Given the description of an element on the screen output the (x, y) to click on. 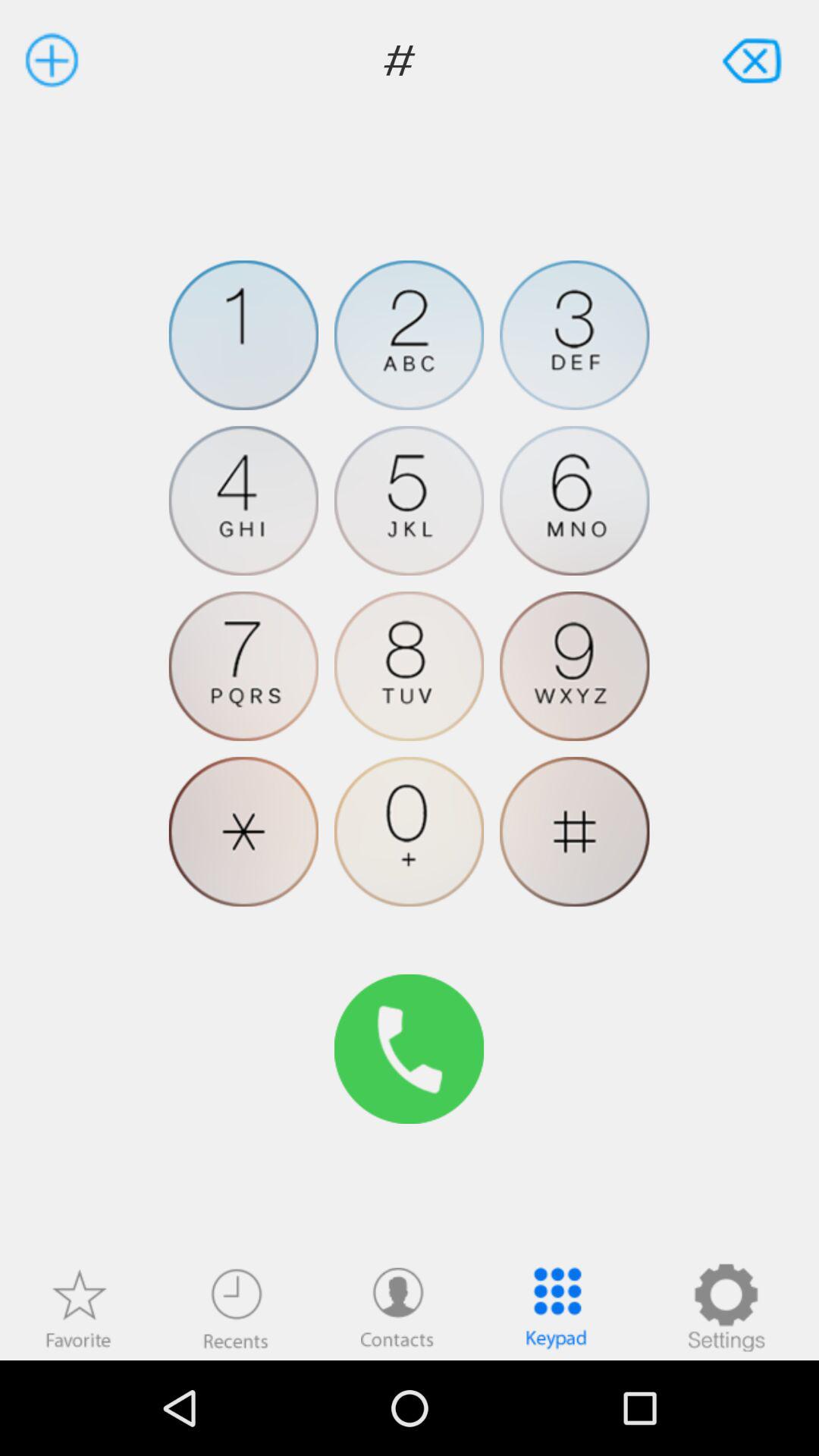
asterisk button (243, 831)
